Given the description of an element on the screen output the (x, y) to click on. 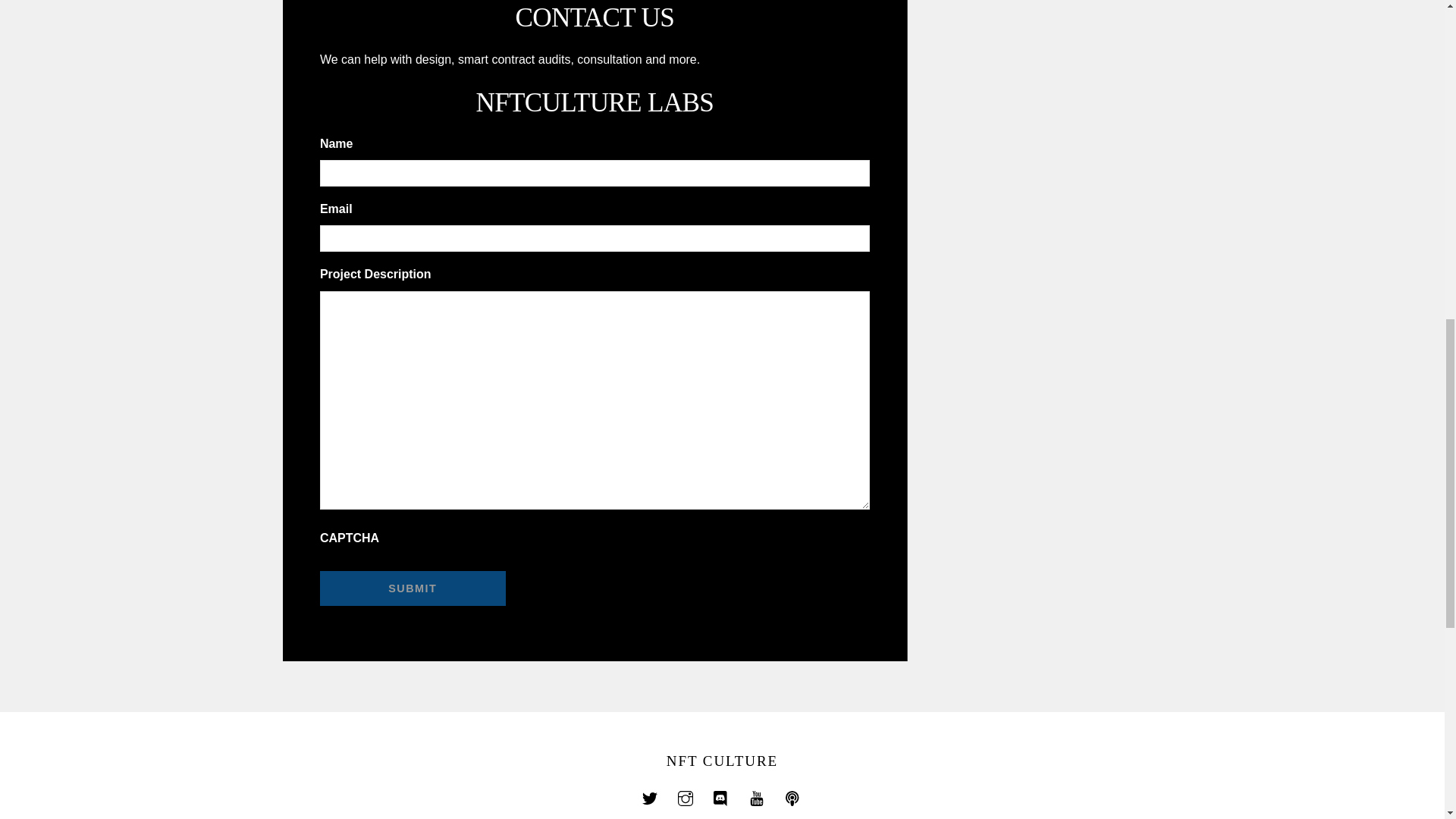
Submit (412, 588)
NFT CULTURE (721, 760)
Submit (412, 588)
